Given the description of an element on the screen output the (x, y) to click on. 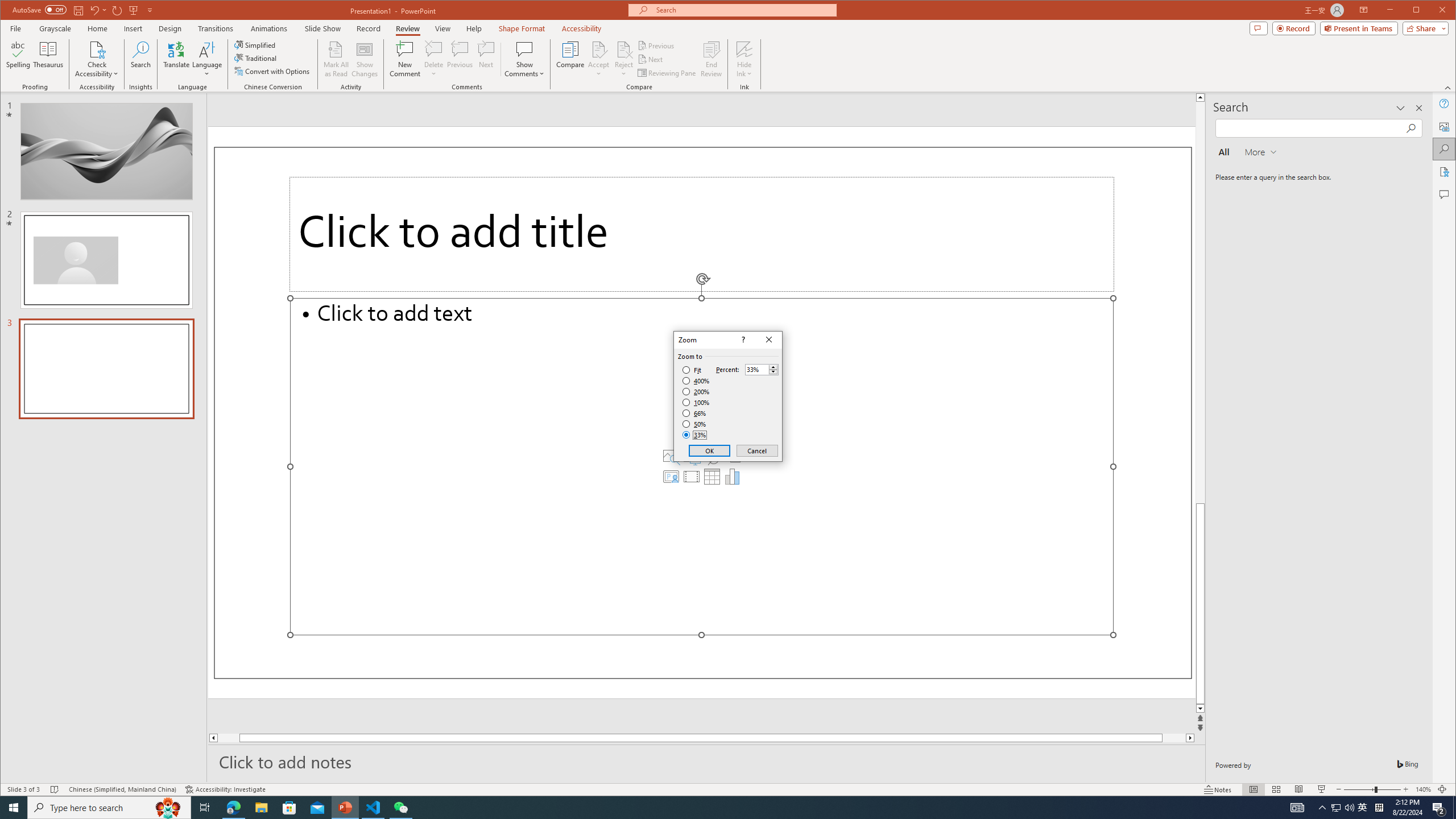
Context help (742, 339)
Zoom 140% (1422, 789)
Translate (175, 59)
Reject (623, 59)
